Given the description of an element on the screen output the (x, y) to click on. 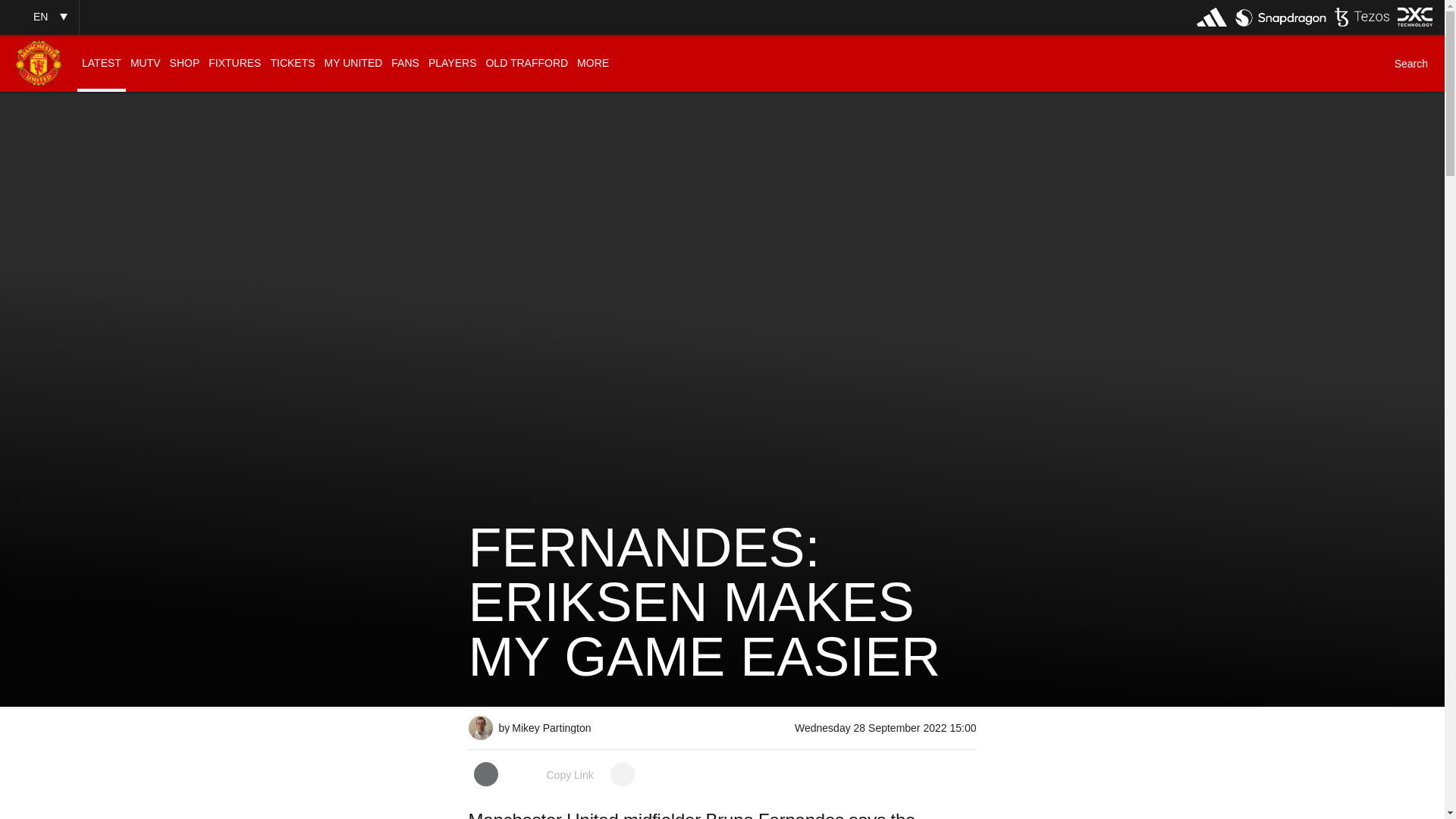
FIXTURES (233, 63)
FANS (405, 63)
LATEST (101, 63)
TICKETS (291, 63)
MUTV (145, 63)
MY UNITED (353, 63)
SHOP (185, 63)
OLD TRAFFORD (526, 63)
PLAYERS (452, 63)
Copy Link (552, 774)
MORE (592, 63)
